Given the description of an element on the screen output the (x, y) to click on. 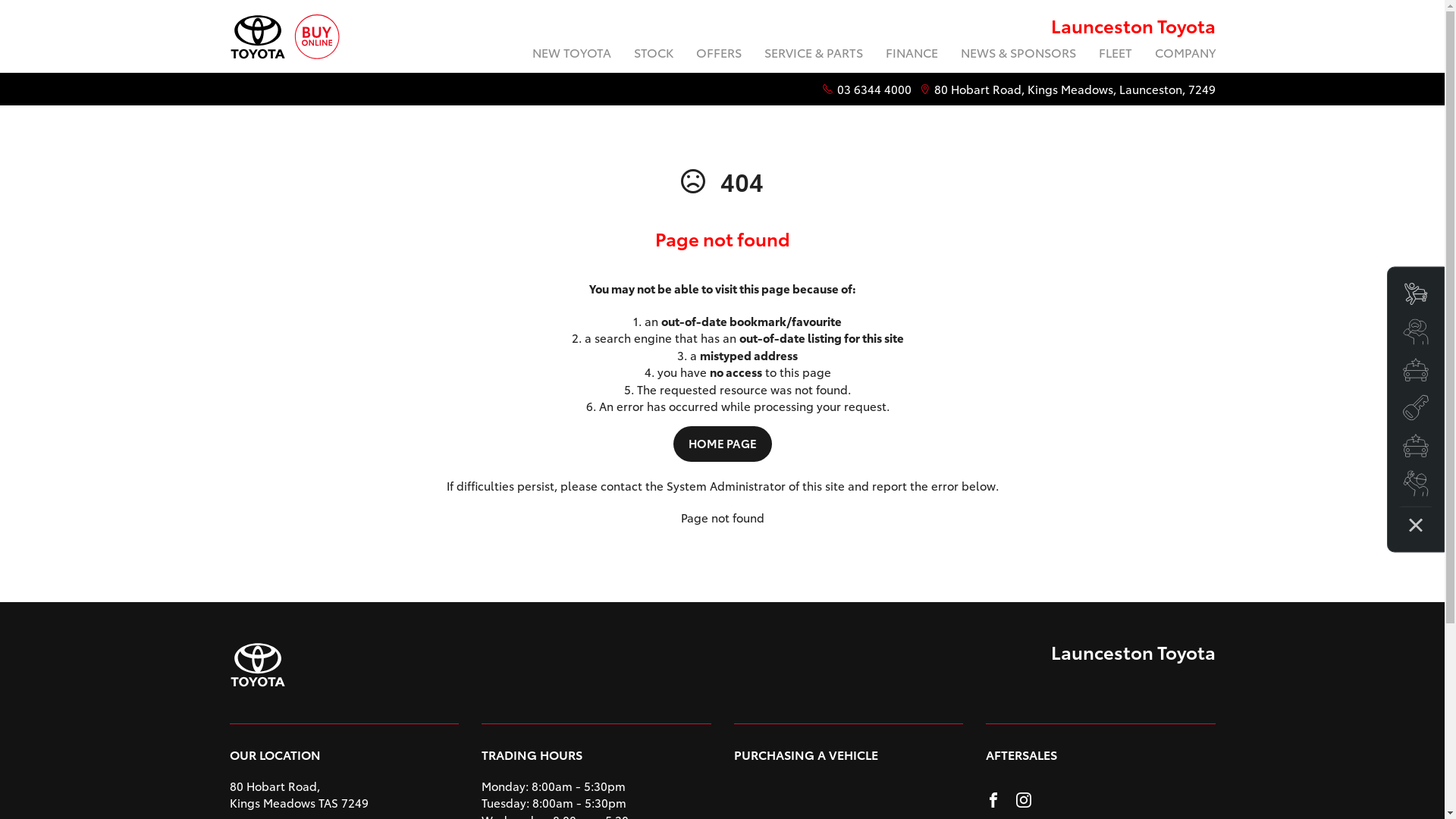
03 6344 4000 Element type: text (874, 88)
NEW TOYOTA Element type: text (570, 54)
COMPANY Element type: text (1179, 54)
FLEET Element type: text (1115, 54)
NEWS & SPONSORS Element type: text (1018, 54)
OFFERS Element type: text (718, 54)
80 Hobart Road, Kings Meadows, Launceston, 7249 Element type: text (1074, 88)
HOME PAGE Element type: text (722, 443)
FINANCE Element type: text (910, 54)
STOCK Element type: text (652, 54)
SERVICE & PARTS Element type: text (812, 54)
